Given the description of an element on the screen output the (x, y) to click on. 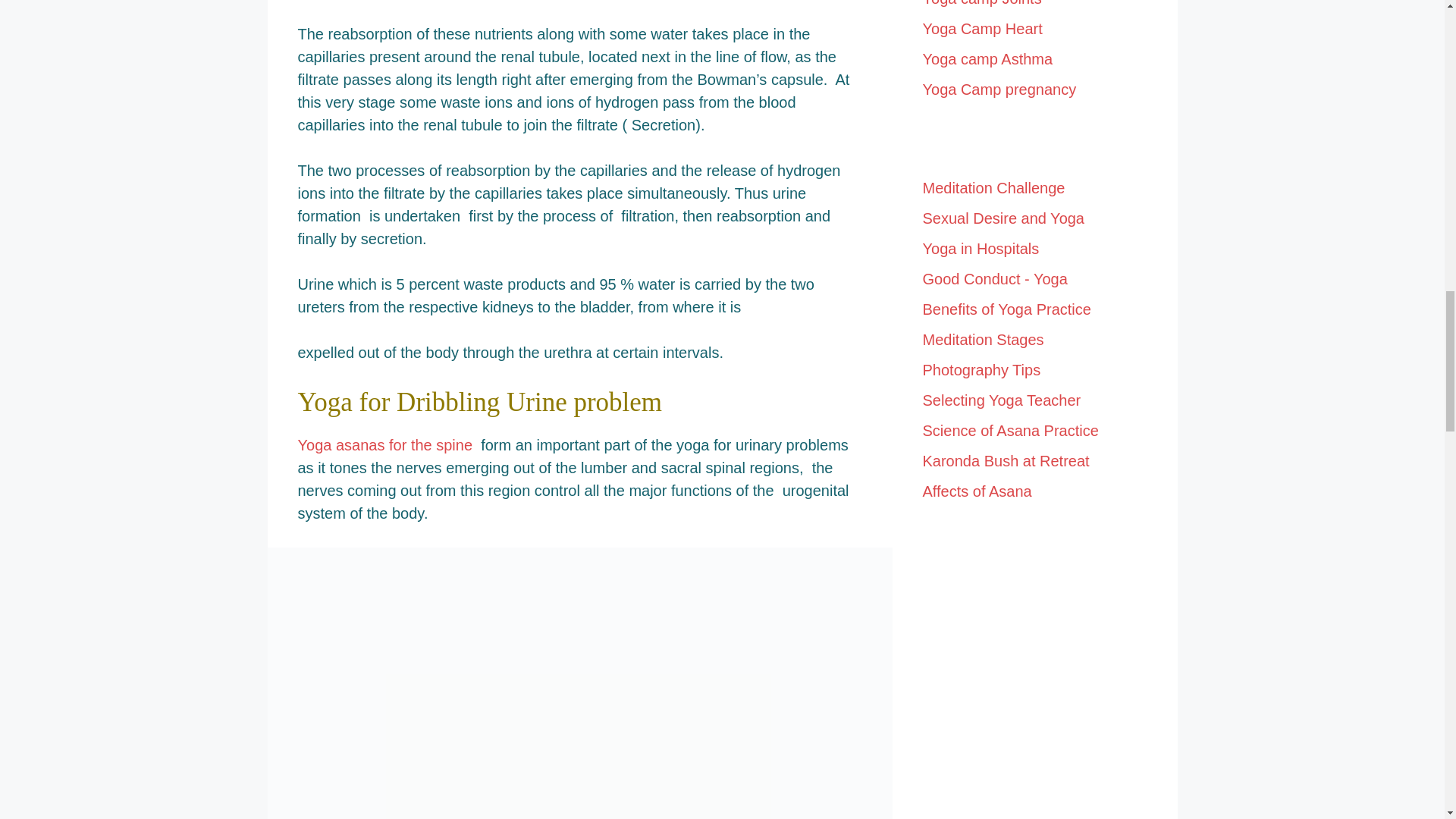
Yoga asanas for the spine (384, 444)
